Given the description of an element on the screen output the (x, y) to click on. 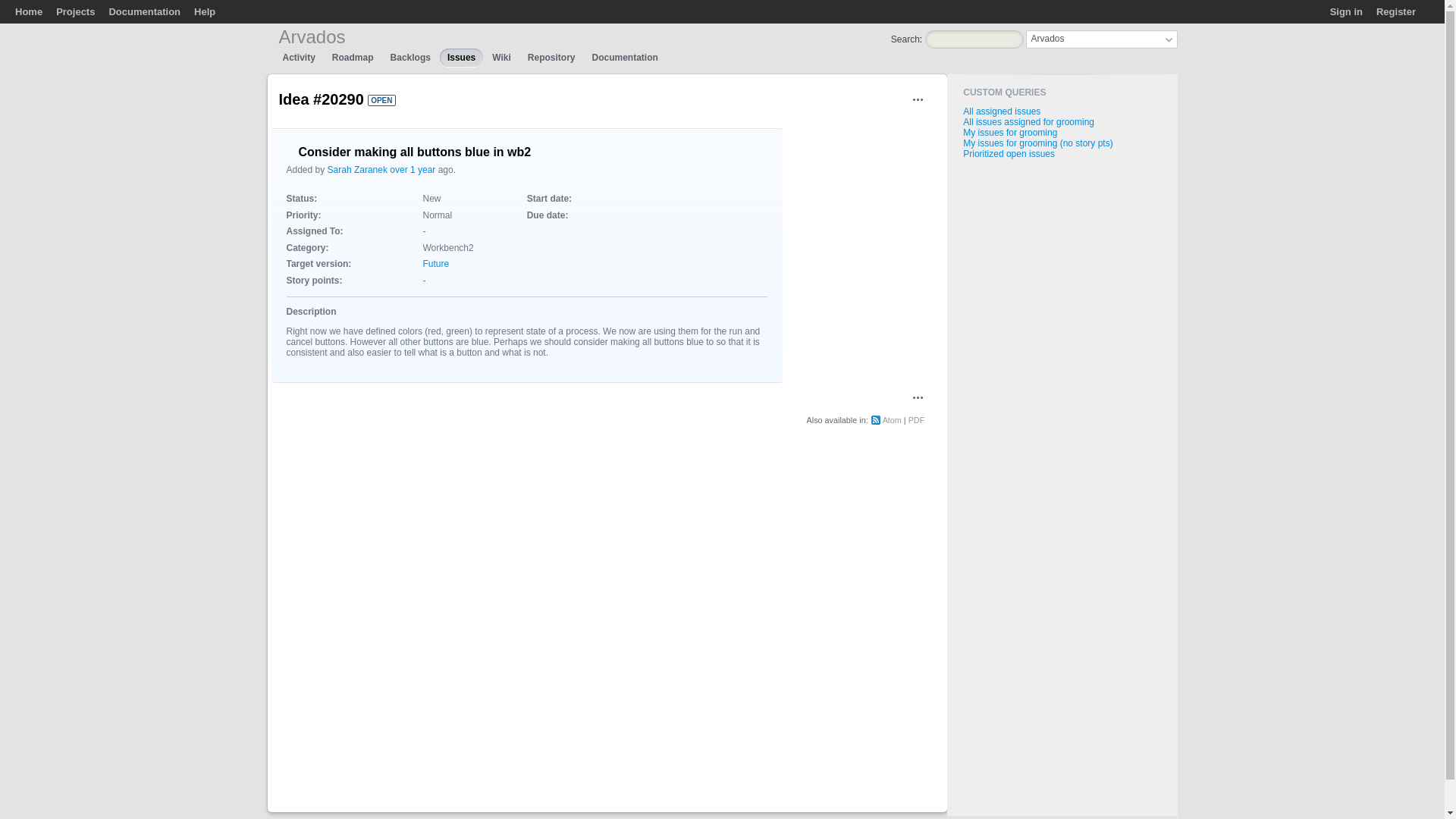
Sarah Zaranek (357, 169)
Search (905, 39)
Future (436, 263)
Projects (75, 11)
Issues (461, 57)
Register (1395, 11)
Repository (551, 57)
All issues assigned for grooming (1028, 122)
Actions (918, 397)
Atom (885, 420)
PDF (916, 420)
Wiki (501, 57)
Sign in (1346, 11)
Home (28, 11)
